Given the description of an element on the screen output the (x, y) to click on. 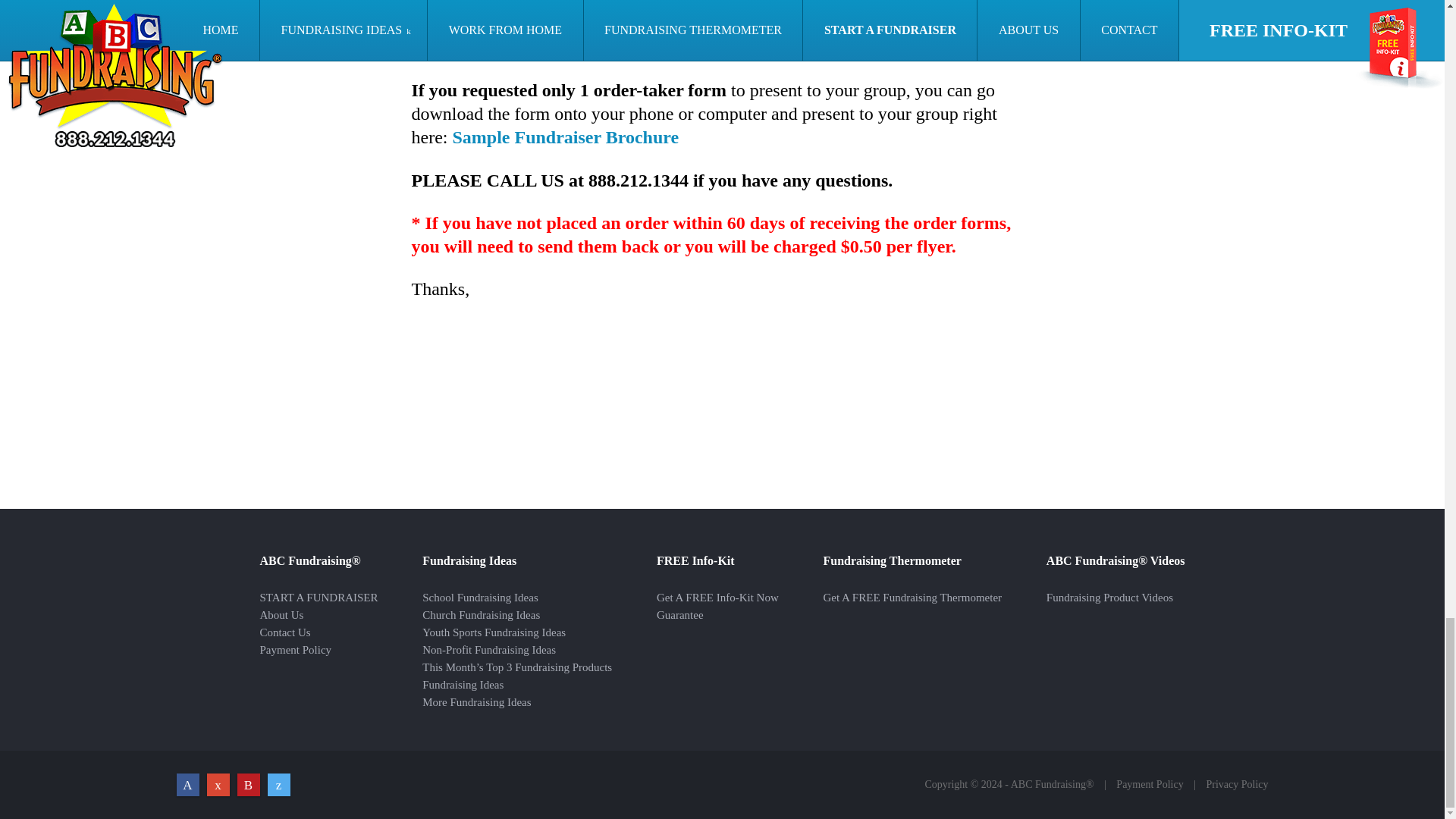
Official Pinterest accounts (247, 784)
Official Twitter accounts (277, 784)
Official Facebook page (187, 784)
